Given the description of an element on the screen output the (x, y) to click on. 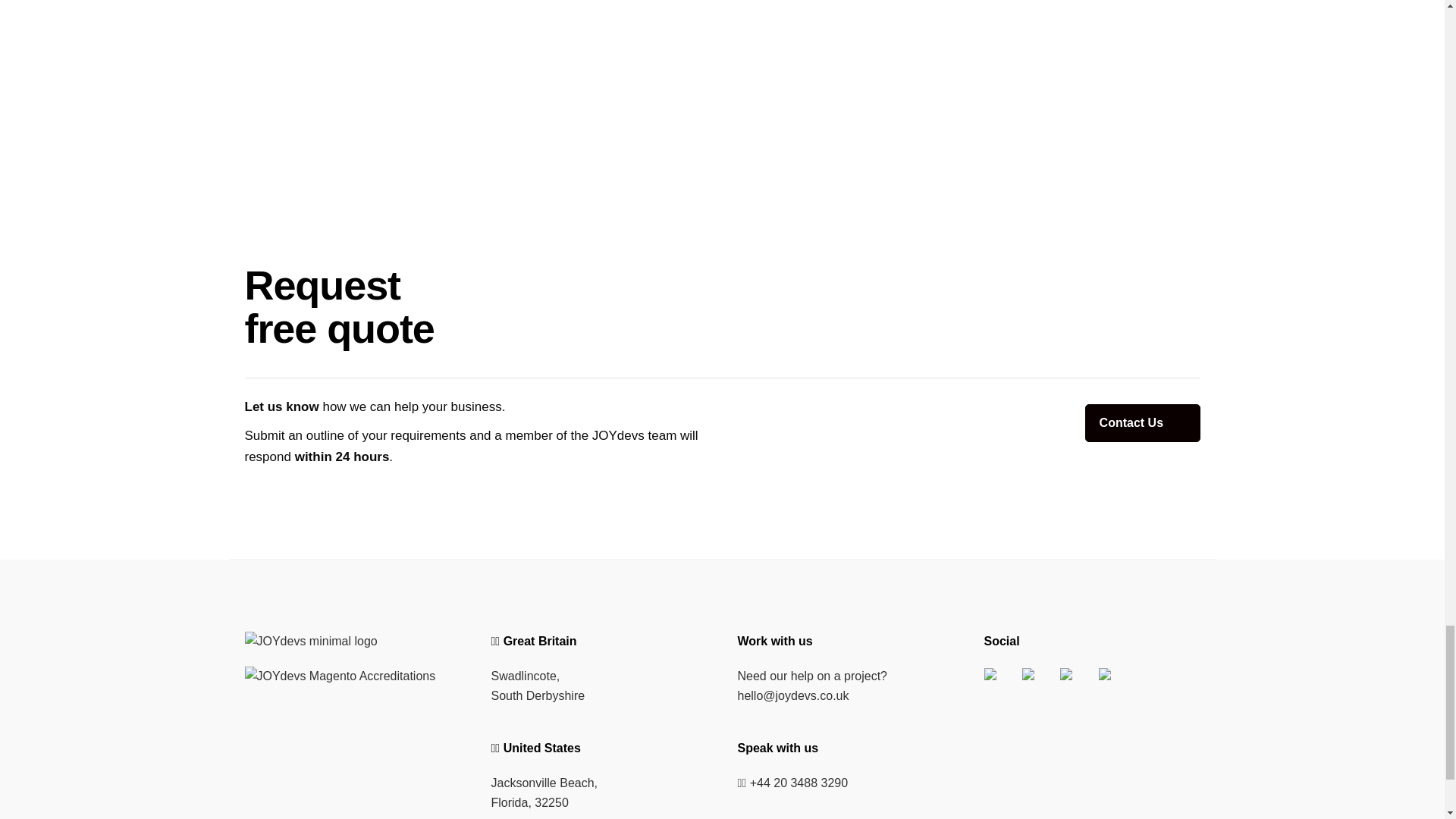
Contact Us (1141, 423)
